Given the description of an element on the screen output the (x, y) to click on. 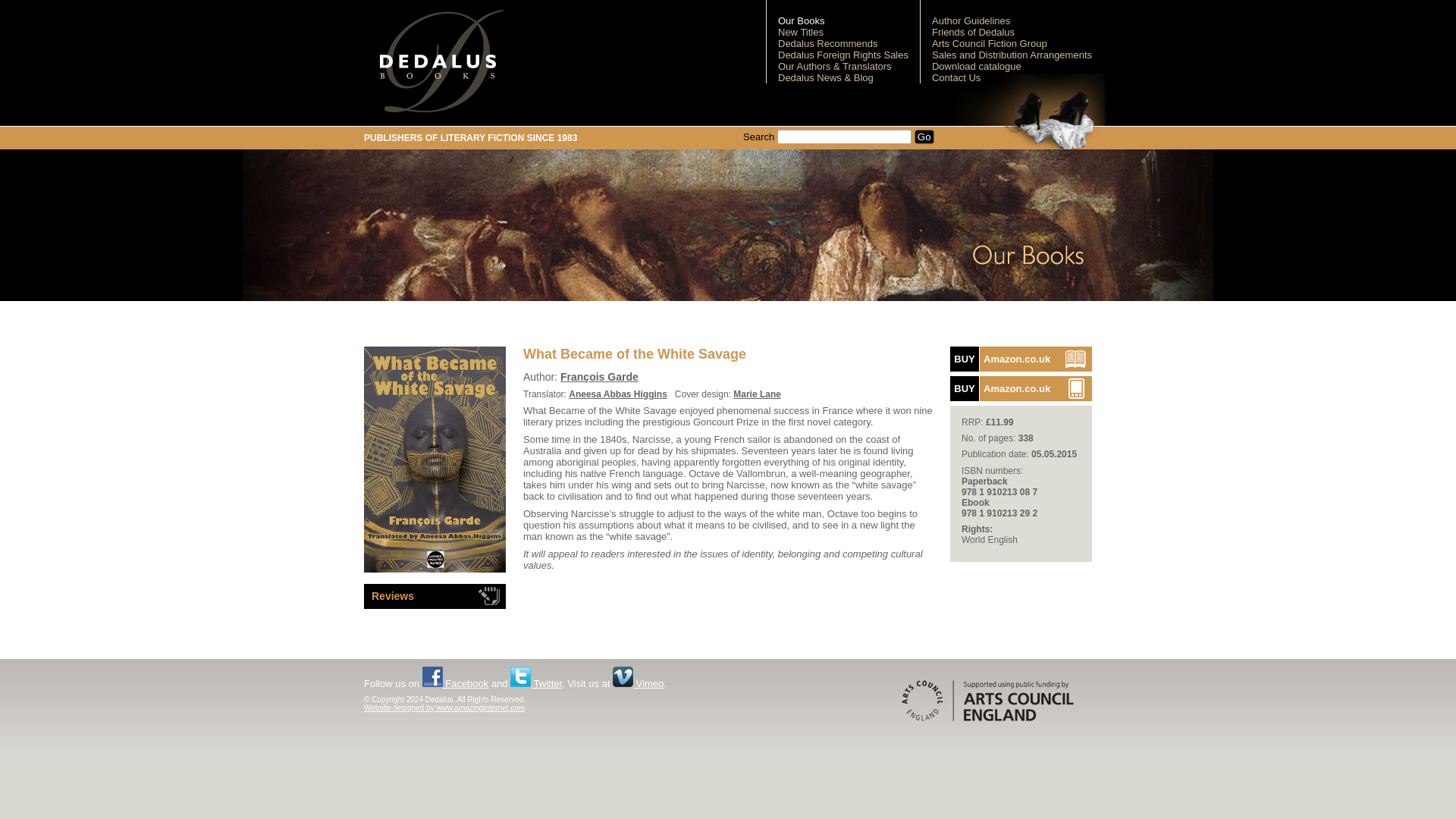
Sales and Distribution Arrangements (1011, 54)
Vimeo (637, 683)
New Titles (800, 31)
Go (1021, 388)
Dedalus Foreign Rights Sales (924, 136)
Twitter (842, 54)
Visit us on Twitter (1021, 358)
Arts Council Fiction Group (536, 683)
